Given the description of an element on the screen output the (x, y) to click on. 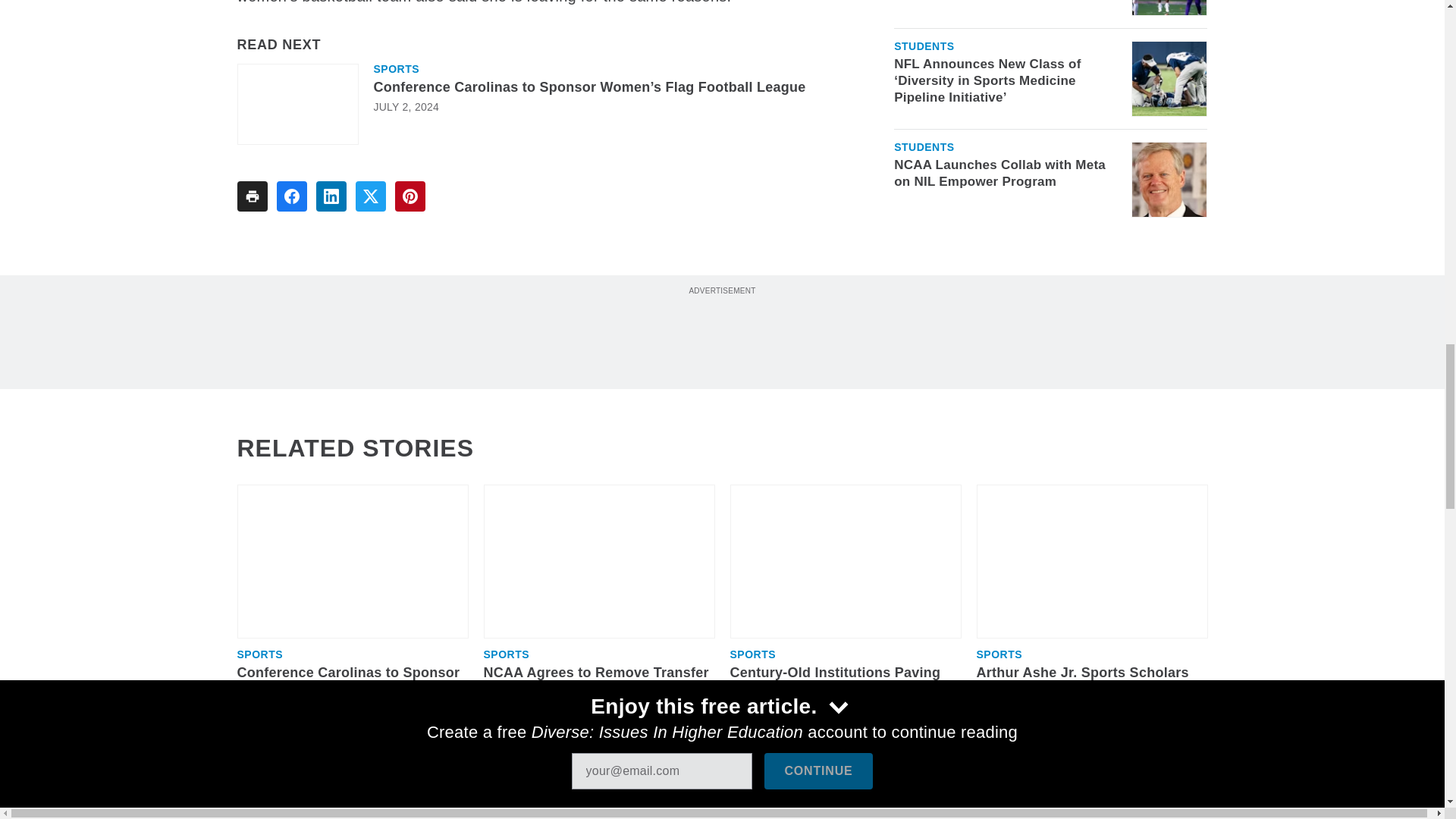
Share To facebook (290, 195)
Share To print (250, 195)
Sports (395, 68)
